Given the description of an element on the screen output the (x, y) to click on. 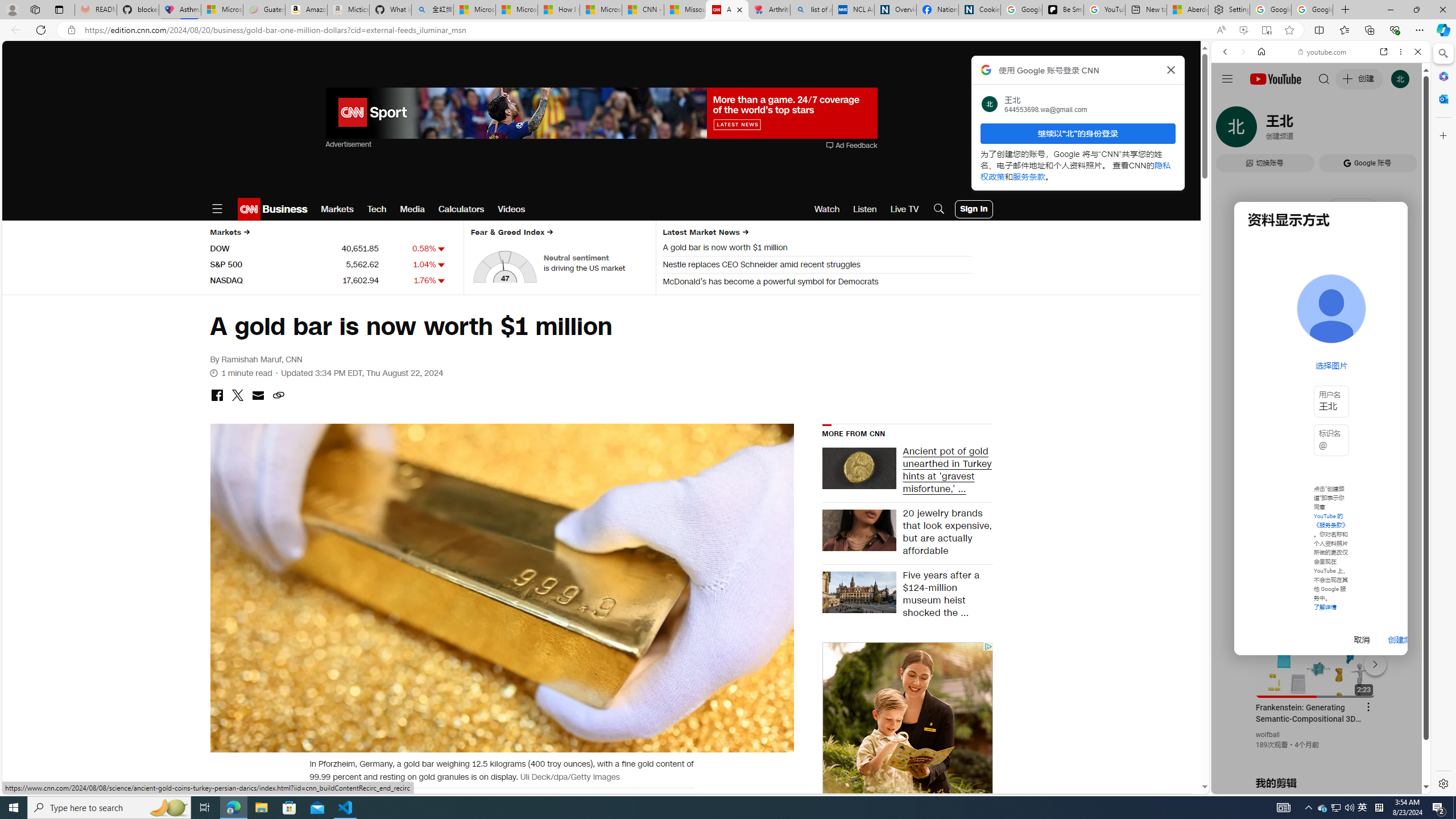
Show More Music (1390, 310)
CNN logo (248, 209)
share with email (257, 396)
